Given the description of an element on the screen output the (x, y) to click on. 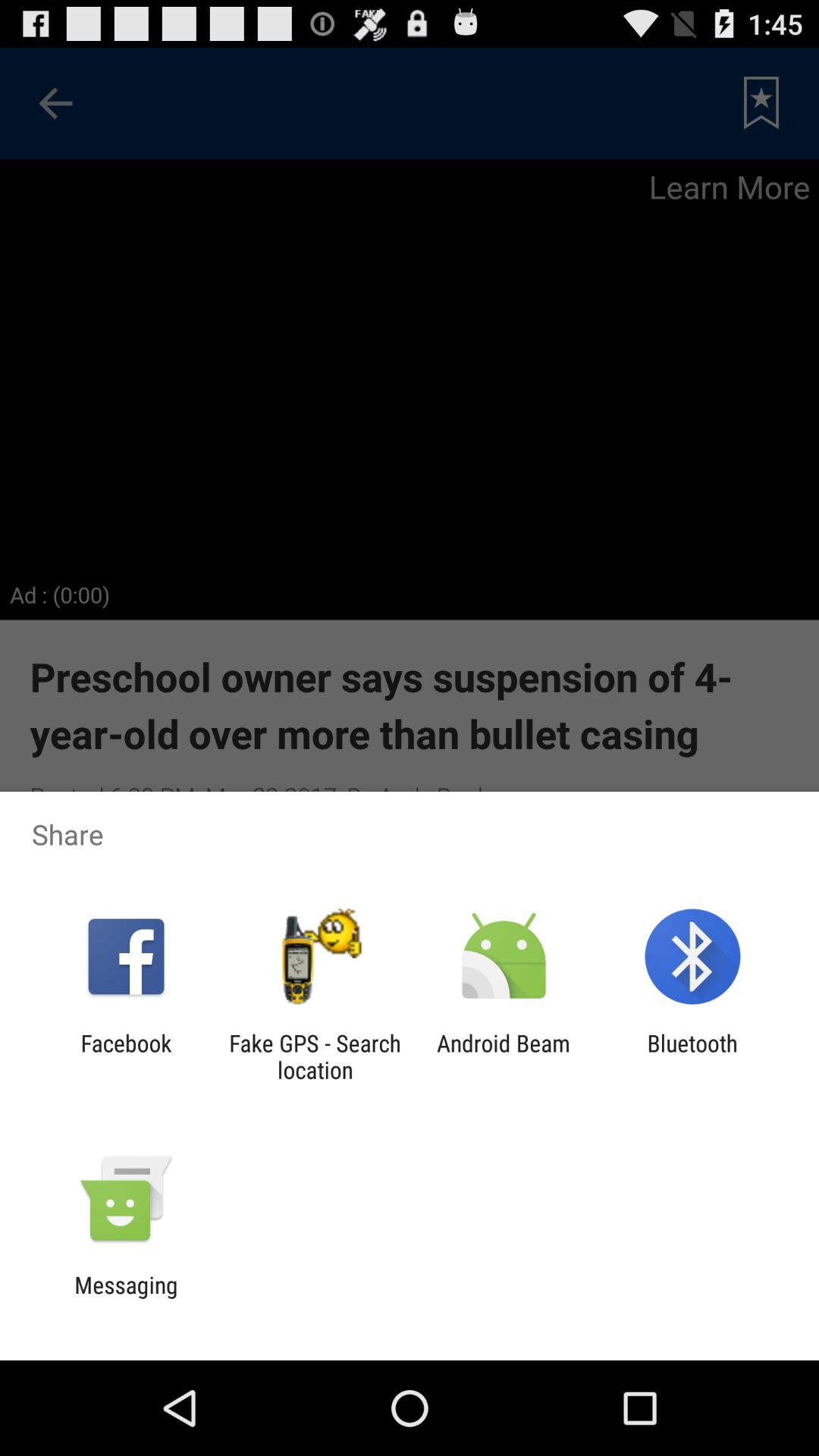
click the item at the bottom right corner (692, 1056)
